Given the description of an element on the screen output the (x, y) to click on. 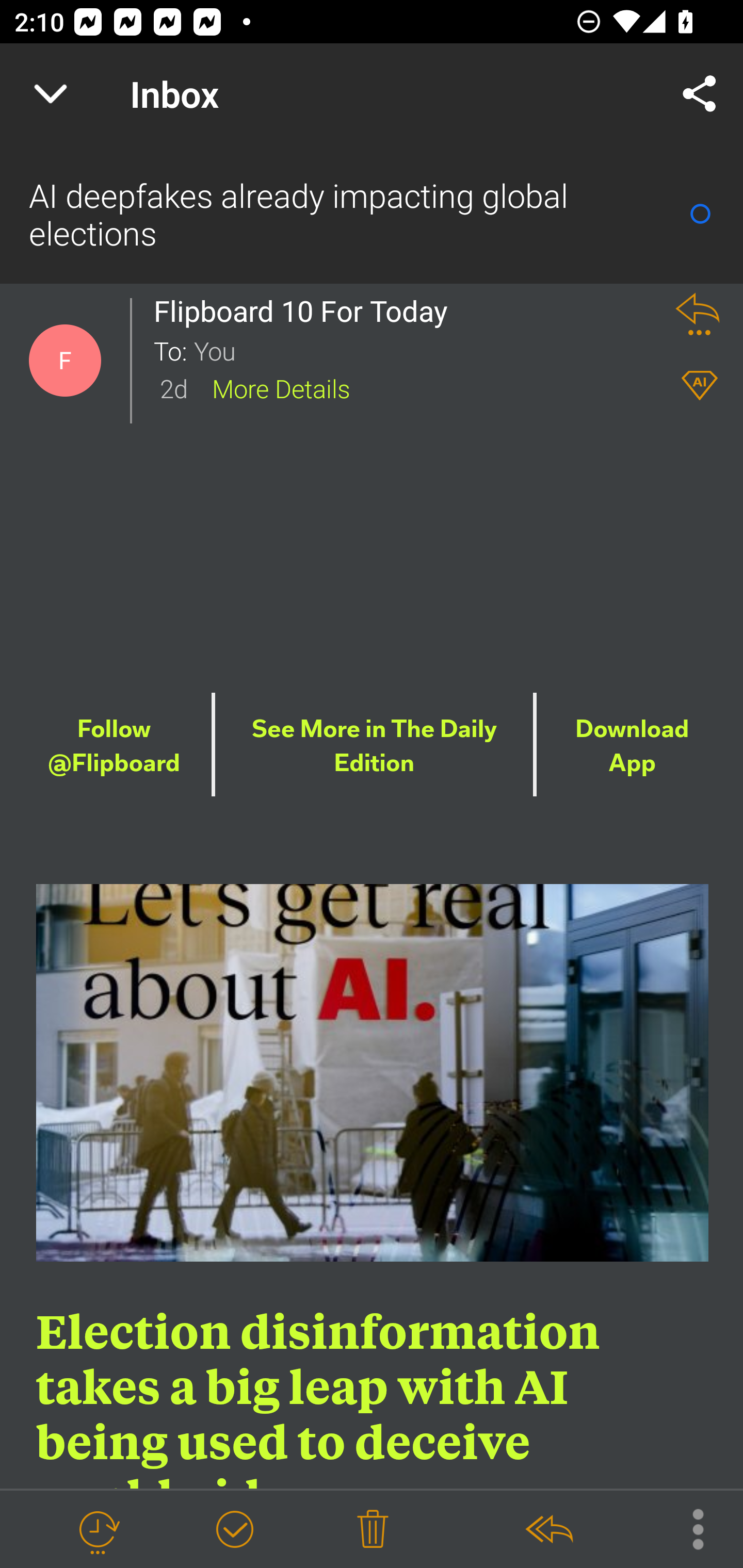
Navigate up (50, 93)
Share (699, 93)
Mark as Read (699, 213)
Flipboard 10 For Today (305, 310)
Contact Details (64, 360)
You (422, 349)
More Details (280, 387)
Follow @Flipboard Follow  @Flipboard (114, 746)
See More in The Daily Edition (374, 746)
Download App (631, 746)
More Options (687, 1528)
Snooze (97, 1529)
Mark as Done (234, 1529)
Delete (372, 1529)
Reply All (548, 1529)
